Given the description of an element on the screen output the (x, y) to click on. 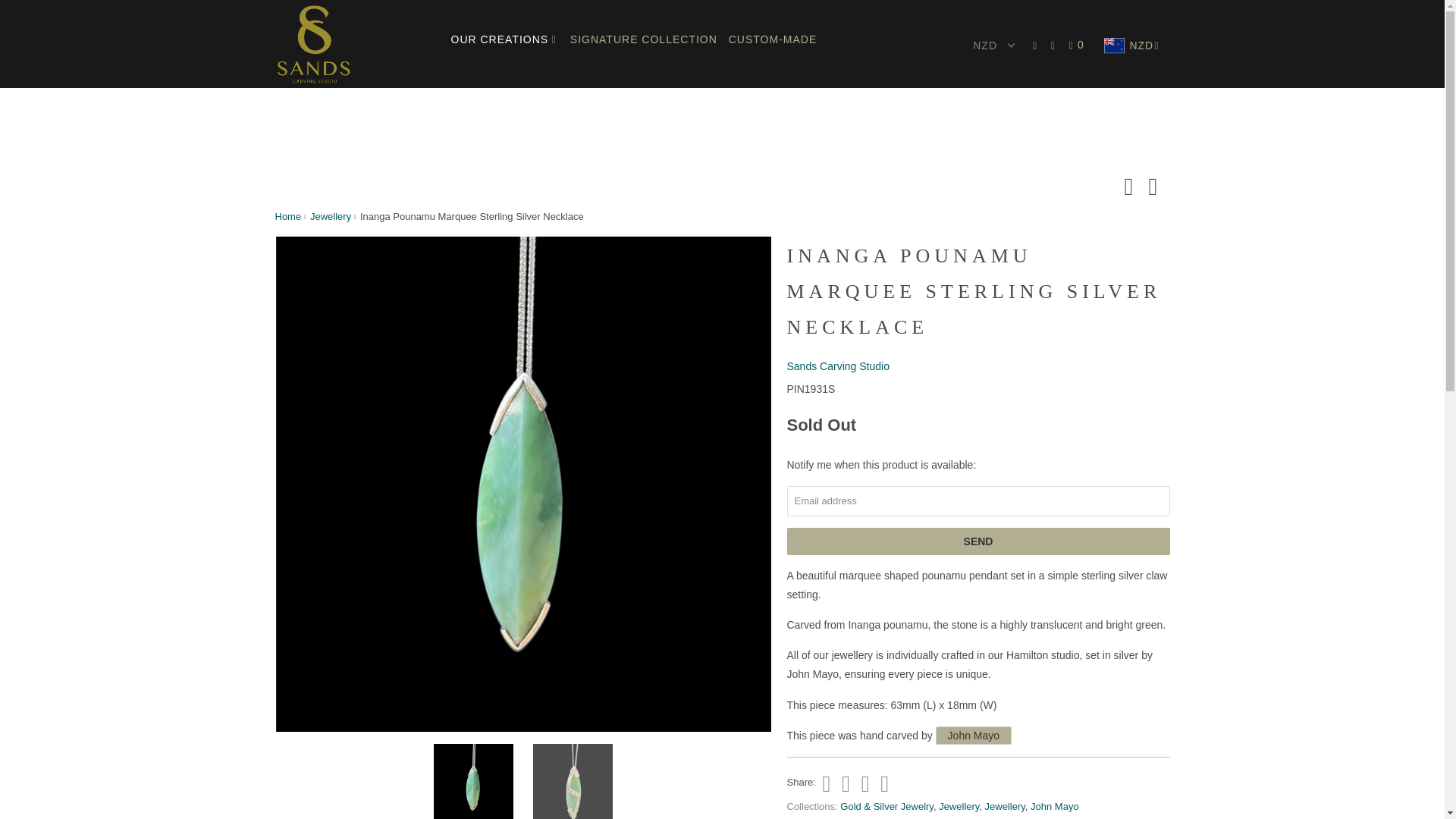
NZD (1133, 45)
Sands Carving Studio (838, 366)
Send (978, 541)
Home (288, 215)
Sands Carving Studio (838, 366)
Sands Carving Studio (288, 215)
Send (978, 541)
Jewellery (330, 215)
0 (1077, 45)
OUR CREATIONS (503, 39)
SIGNATURE COLLECTION (643, 39)
Sands Carving Studio (352, 43)
Jewellery (330, 215)
CUSTOM-MADE (773, 39)
